Given the description of an element on the screen output the (x, y) to click on. 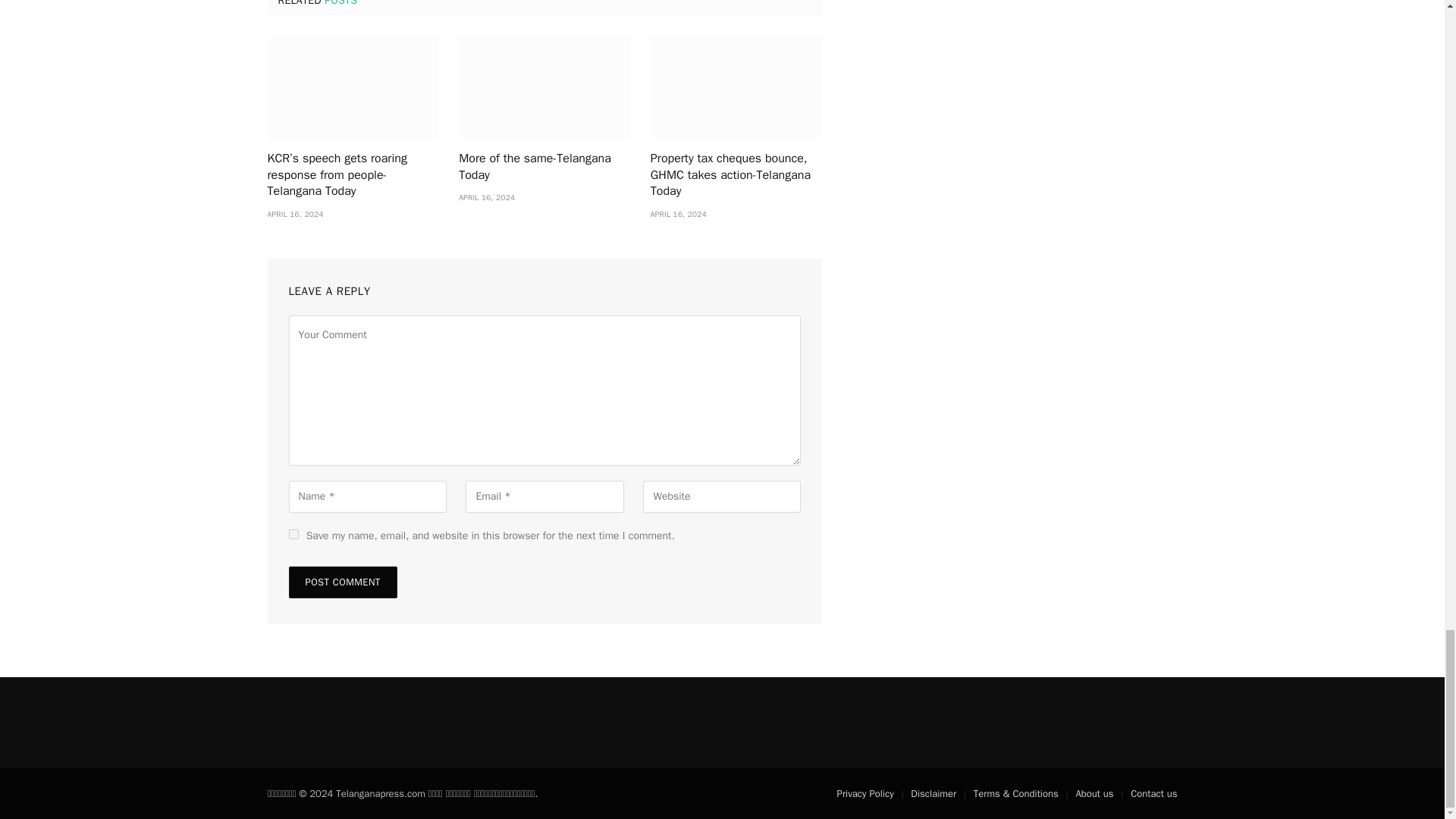
Post Comment (342, 582)
Post Comment (342, 582)
yes (293, 533)
More of the same-Telangana Today (544, 87)
More of the same-Telangana Today (544, 167)
